Given the description of an element on the screen output the (x, y) to click on. 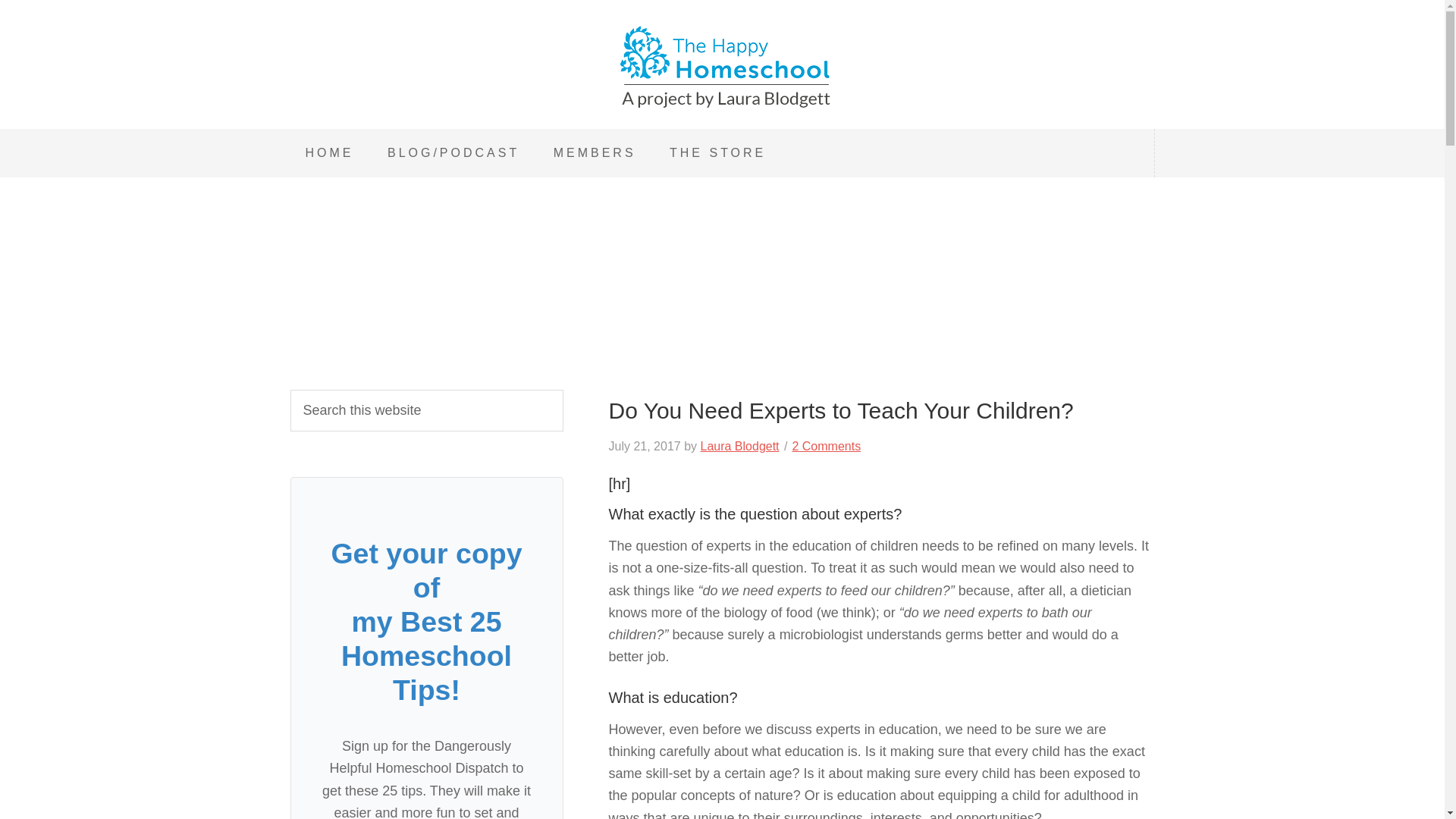
HOME (328, 152)
2 Comments (826, 445)
THE STORE (716, 152)
The Happy Homeschool (721, 67)
MEMBERS (594, 152)
Laura Blodgett (739, 445)
